Given the description of an element on the screen output the (x, y) to click on. 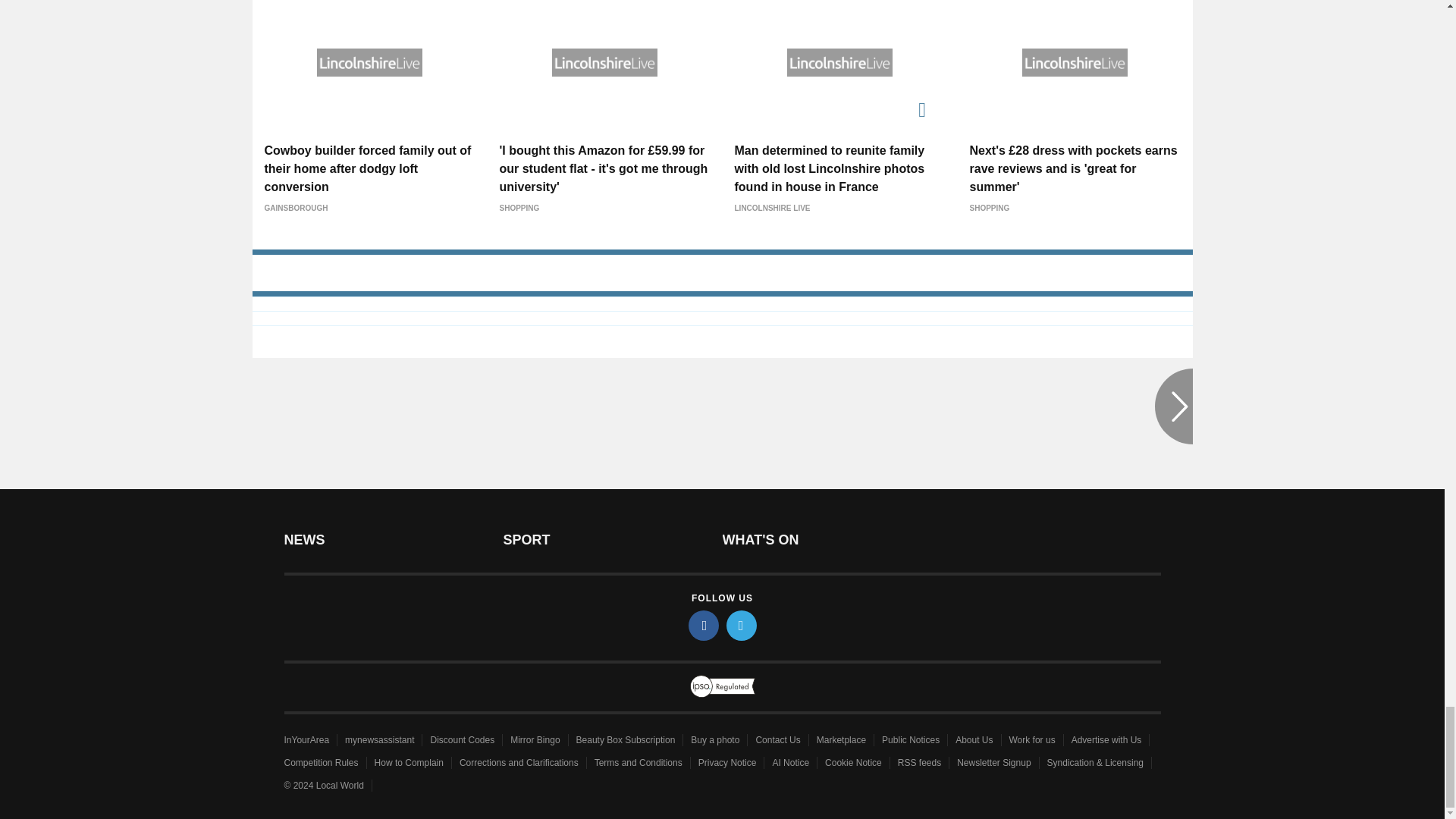
twitter (741, 625)
facebook (703, 625)
